Given the description of an element on the screen output the (x, y) to click on. 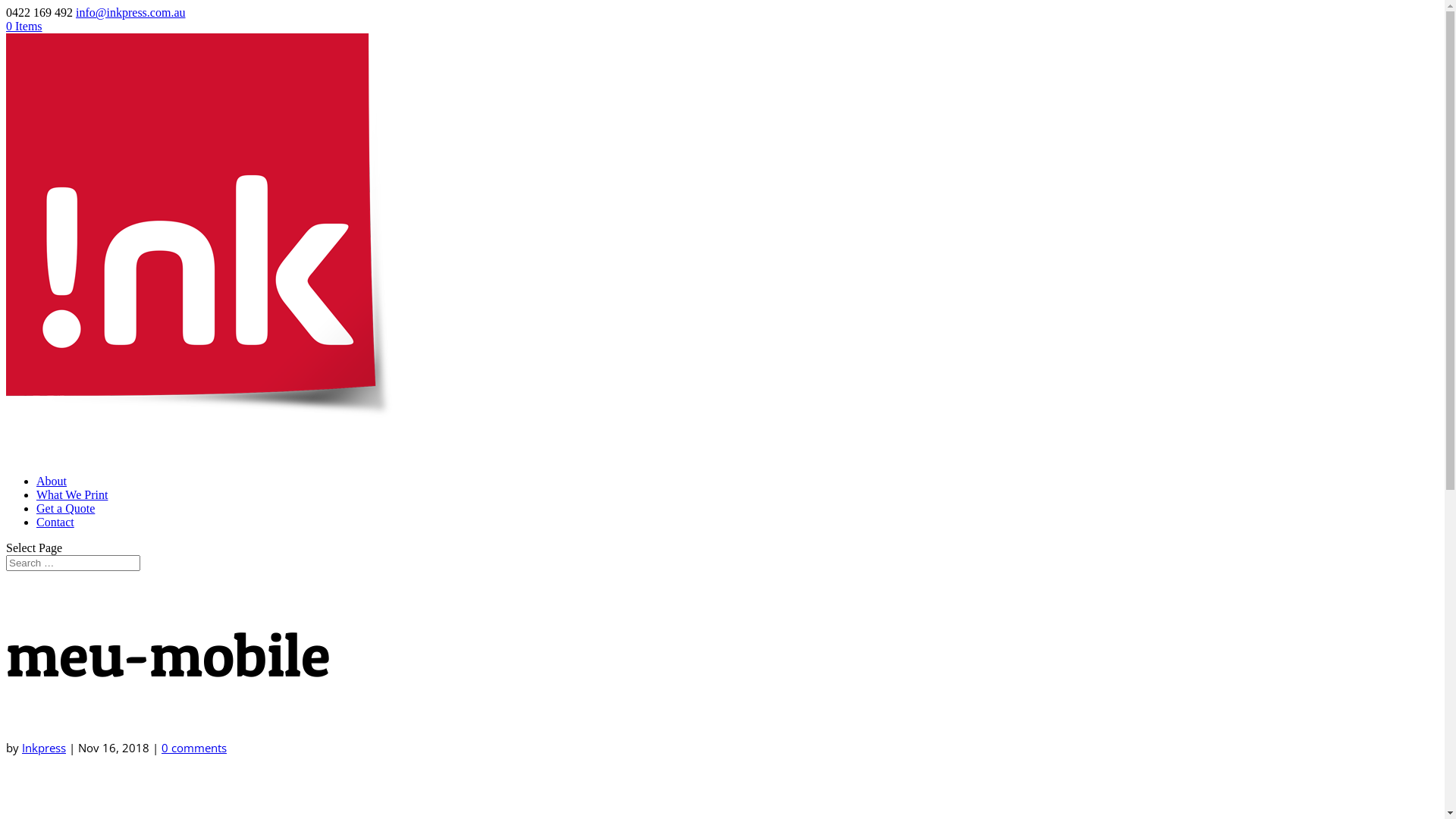
Contact Element type: text (55, 540)
Inkpress Element type: text (43, 747)
0 comments Element type: text (193, 747)
About Element type: text (51, 499)
What We Print Element type: text (71, 513)
Search for: Element type: hover (73, 563)
Get a Quote Element type: text (65, 527)
info@inkpress.com.au Element type: text (130, 12)
0 Items Element type: text (24, 25)
